Given the description of an element on the screen output the (x, y) to click on. 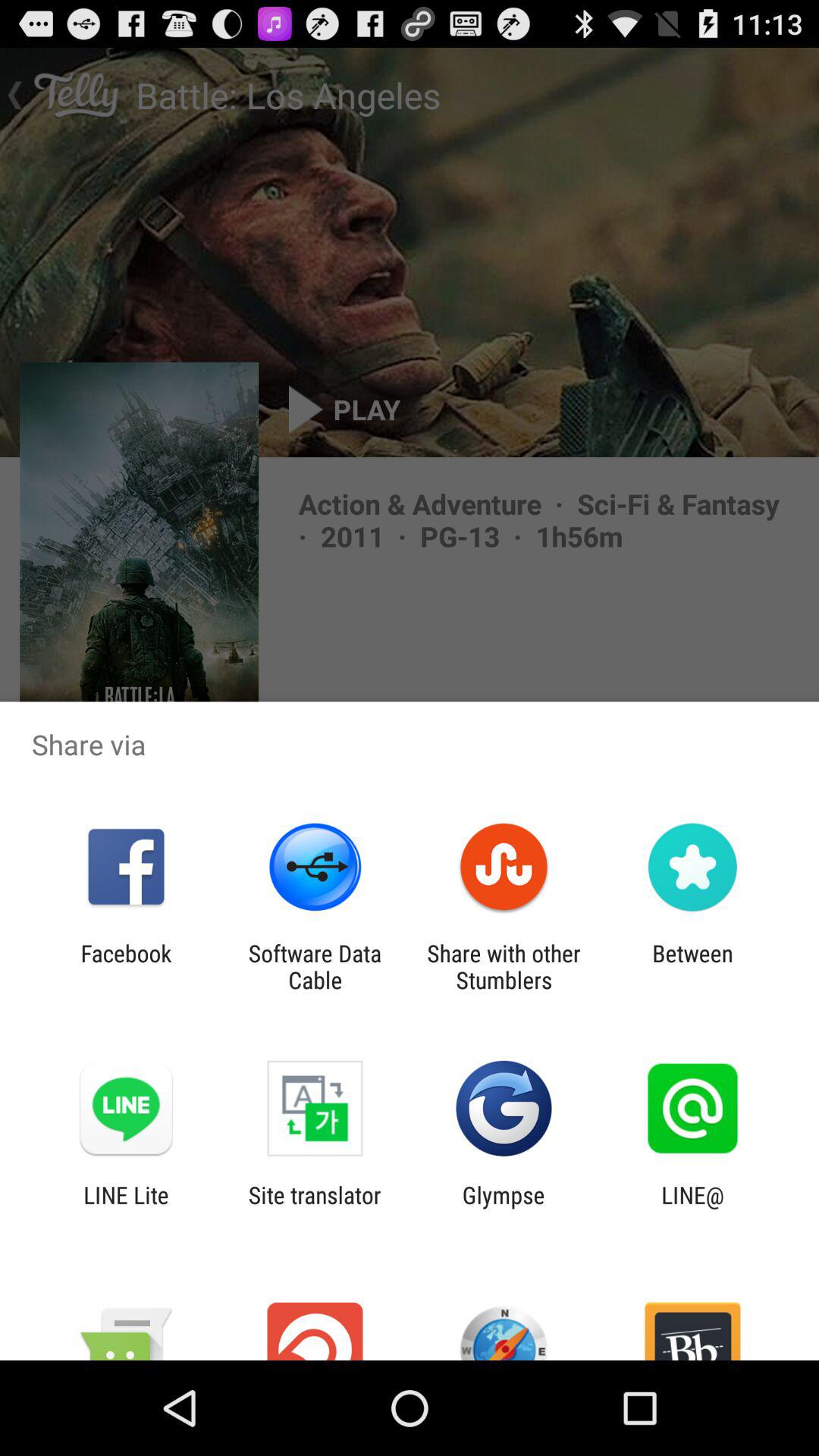
launch icon to the left of the between icon (503, 966)
